Given the description of an element on the screen output the (x, y) to click on. 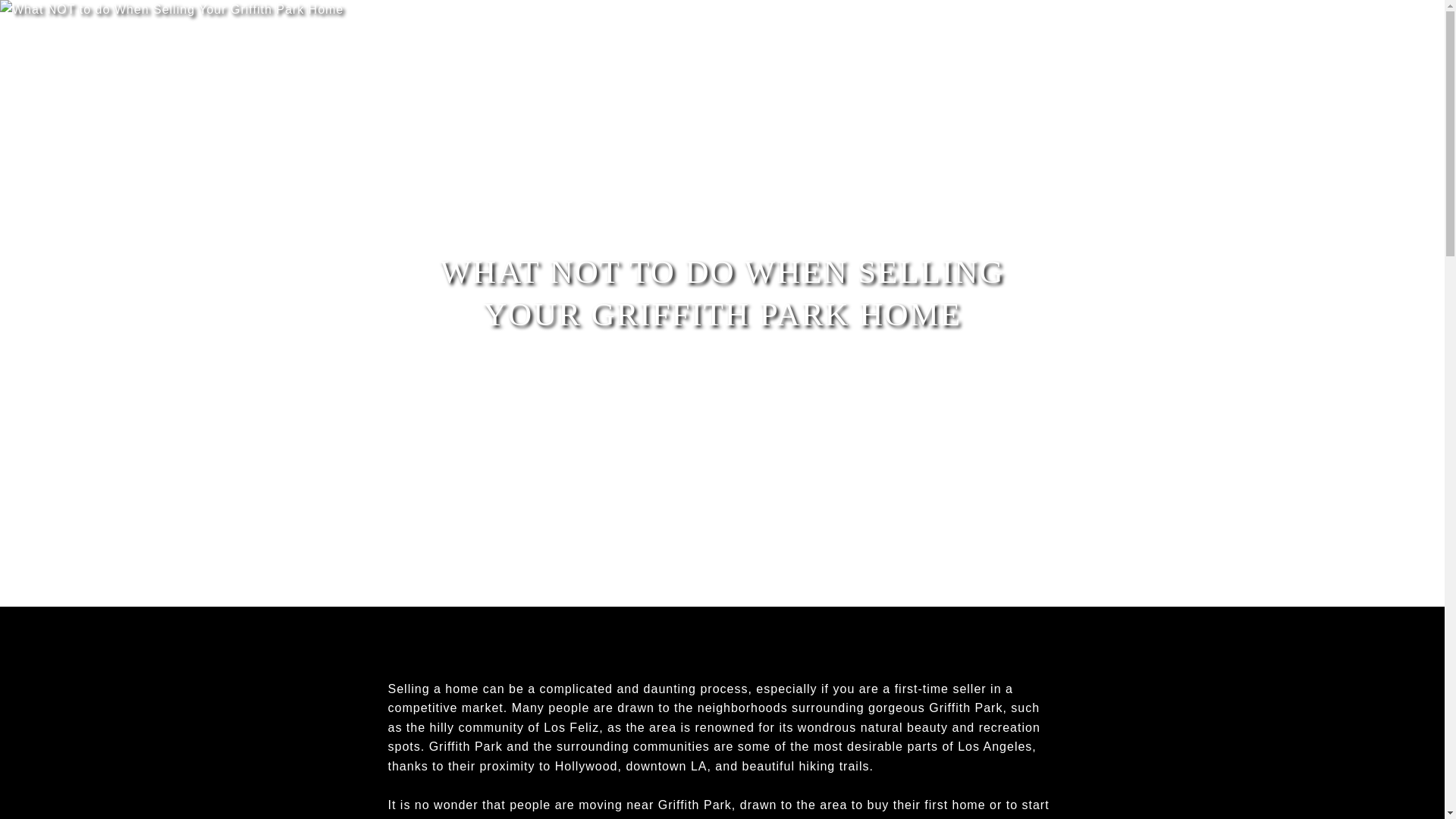
CONTACT US (1232, 36)
FEATURED LISTINGS (92, 69)
MLS SEARCH (1128, 51)
FEATURED LOCATION GUIDES (266, 69)
